Given the description of an element on the screen output the (x, y) to click on. 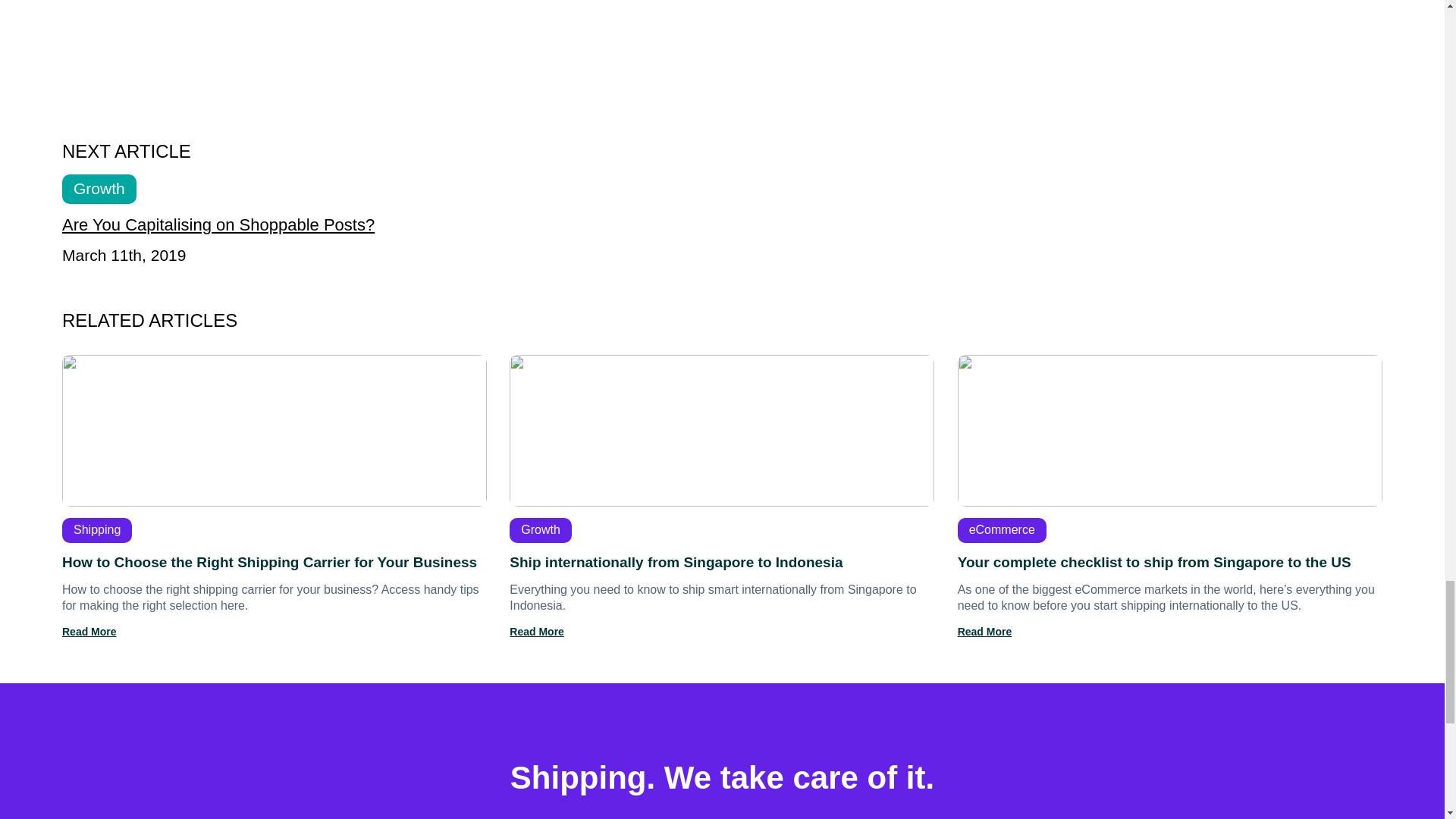
Ship internationally from Singapore to Indonesia (721, 496)
Your complete checklist to ship from Singapore to the US (1169, 496)
How to Choose the Right Shipping Carrier for Your Business (274, 496)
